Given the description of an element on the screen output the (x, y) to click on. 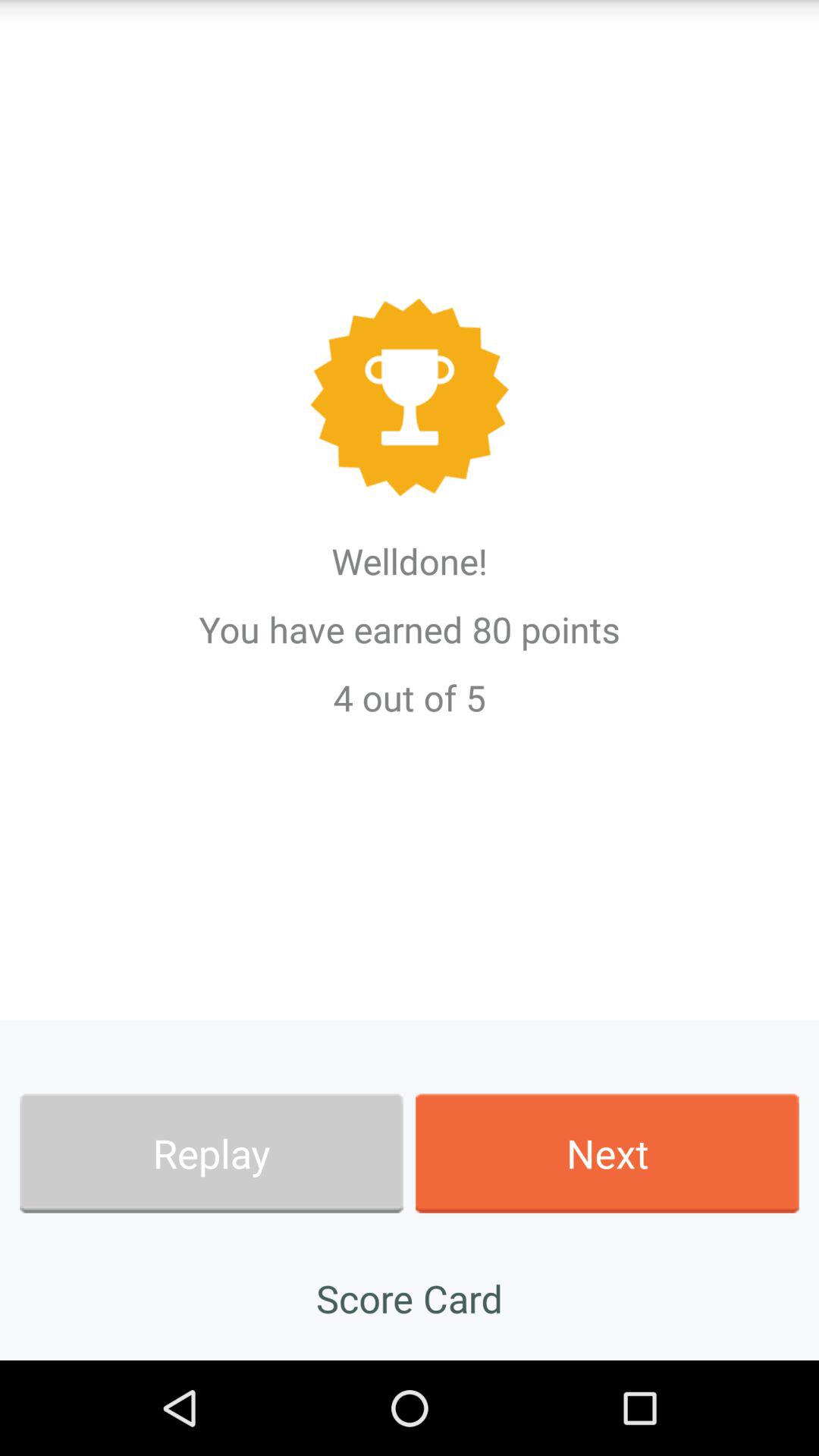
tap the app above score card icon (607, 1153)
